Given the description of an element on the screen output the (x, y) to click on. 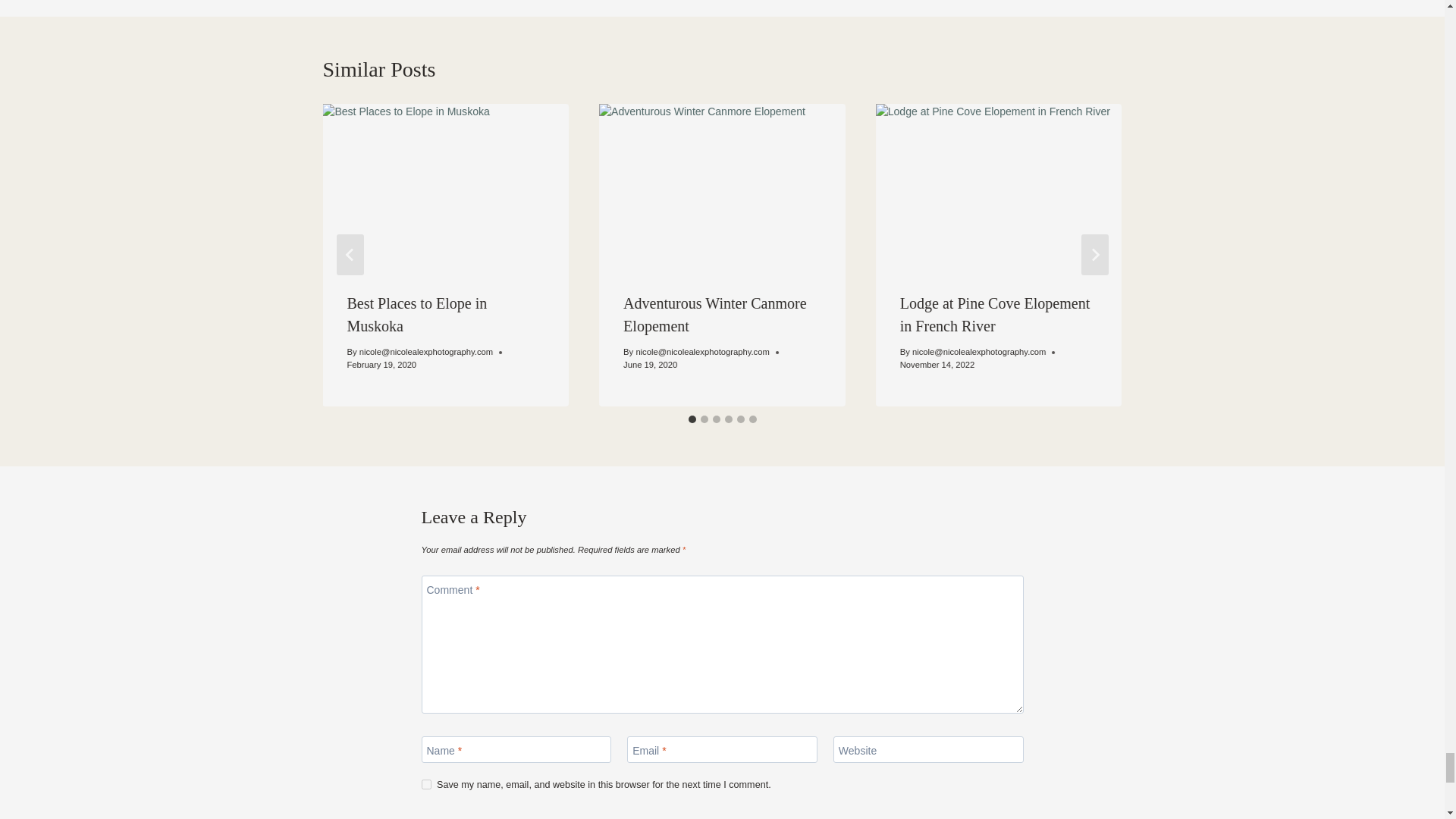
yes (426, 784)
